Given the description of an element on the screen output the (x, y) to click on. 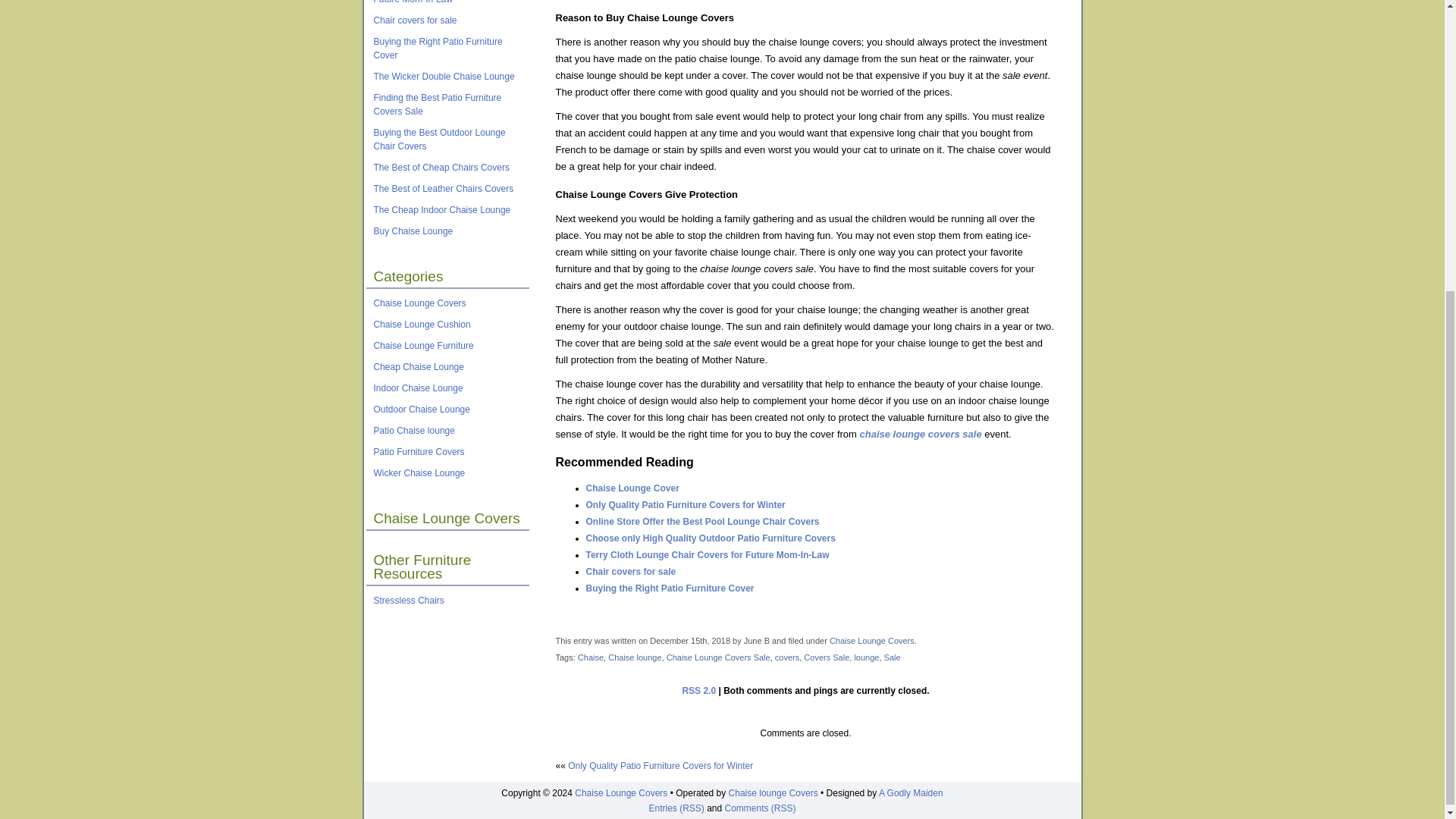
Online Store Offer the Best Pool Lounge Chair Covers (701, 521)
Stressless Chairs (408, 600)
Buying the Right Patio Furniture Cover (437, 48)
Patio Furniture Covers (418, 451)
Online Store Offer the Best Pool Lounge Chair Covers (701, 521)
Buy Chaise Lounge (412, 231)
Chaise Lounge Cover (631, 488)
Chaise Lounge Covers (418, 303)
Wicker Chaise Lounge (418, 472)
Outdoor Chaise Lounge (420, 409)
Patio Chaise lounge (413, 430)
The Best of Cheap Chairs Covers (440, 167)
Choose only High Quality Outdoor Patio Furniture Covers (709, 538)
Choose only High Quality Outdoor Patio Furniture Covers (709, 538)
Terry Cloth Lounge Chair Covers for Future Mom-In-Law (706, 554)
